Given the description of an element on the screen output the (x, y) to click on. 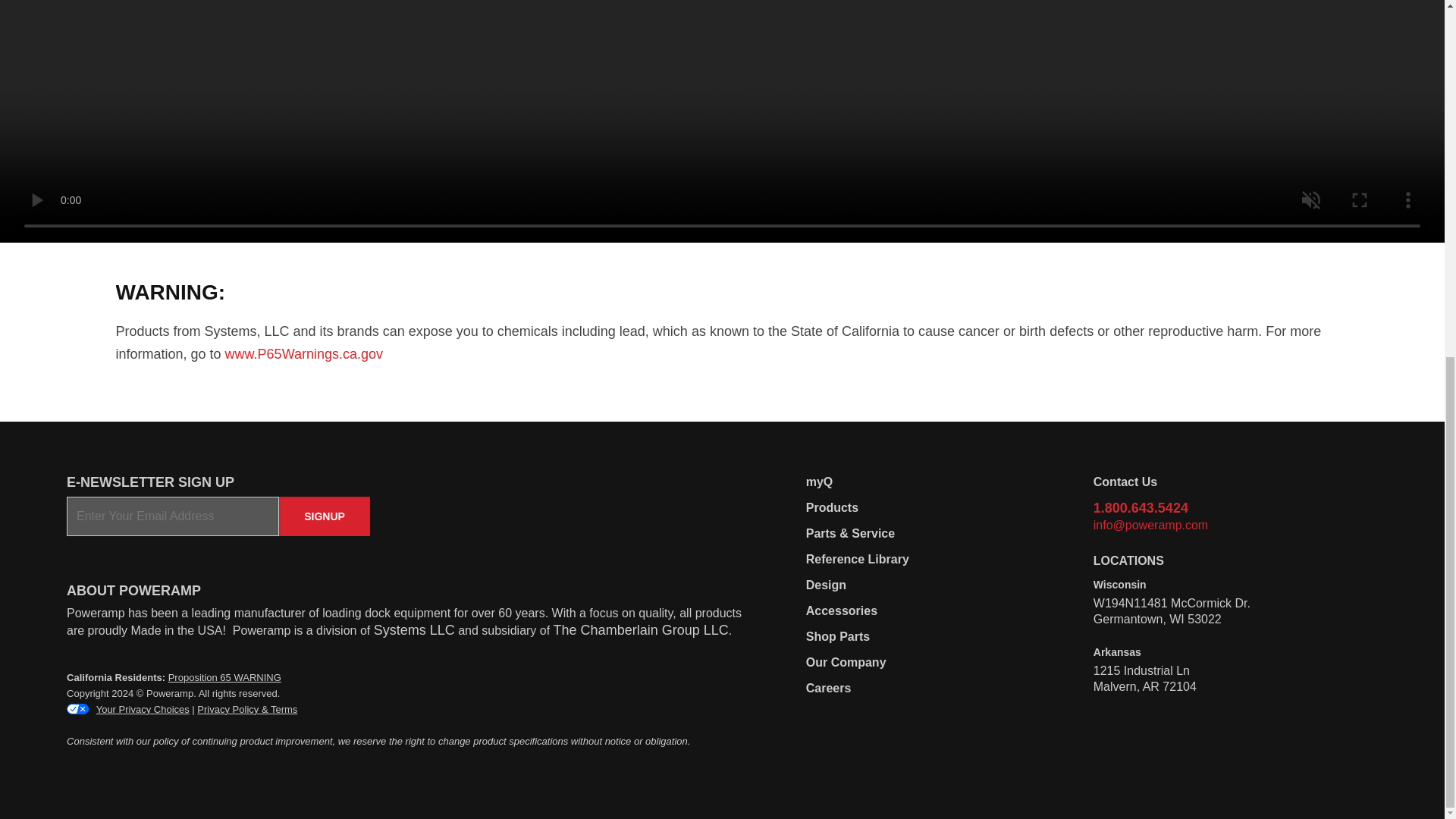
SIGNUP (324, 515)
